Given the description of an element on the screen output the (x, y) to click on. 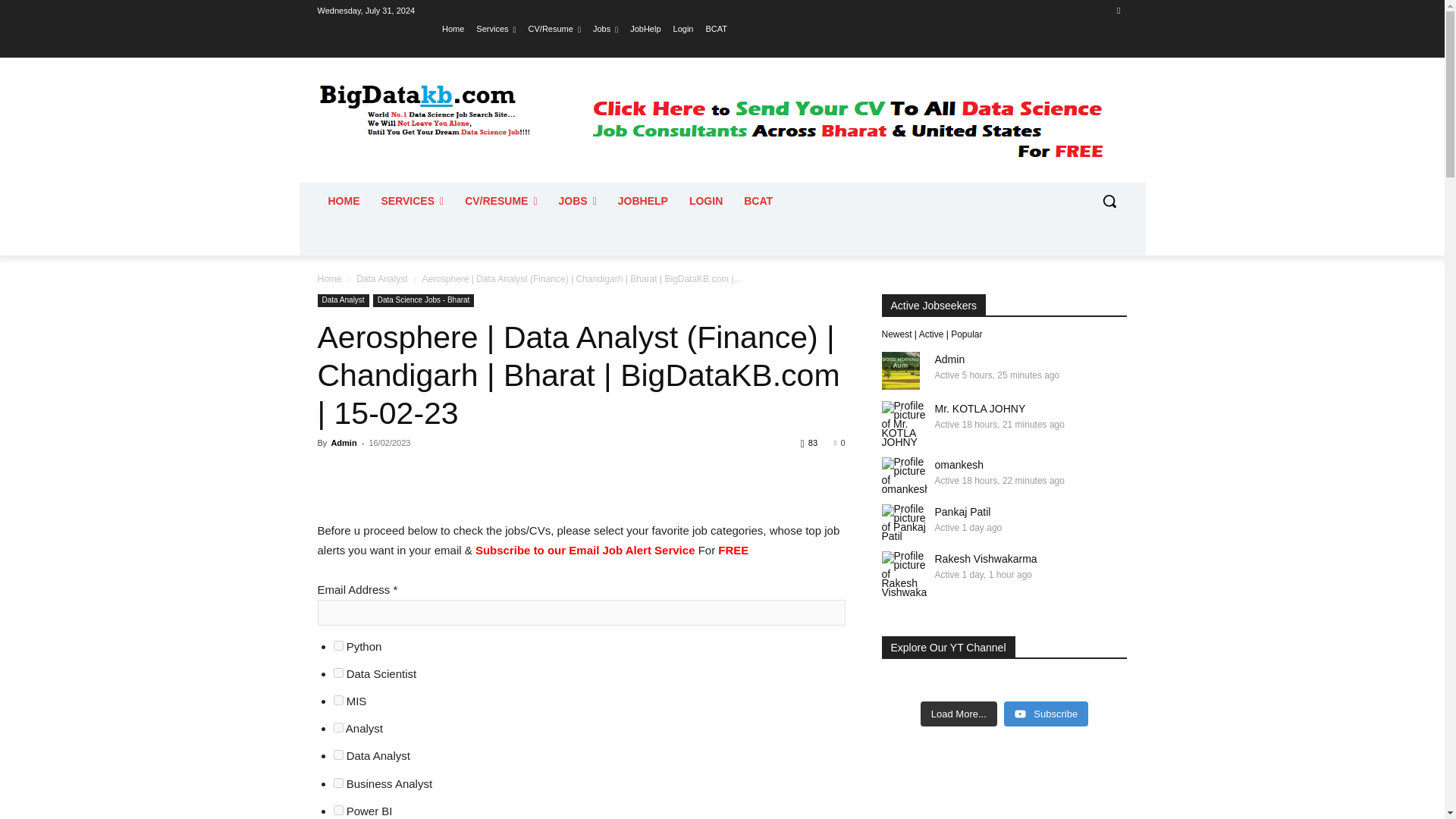
View all posts in Data Analyst (381, 278)
4 (338, 673)
16 (338, 755)
64 (338, 809)
Youtube (1117, 9)
JobHelp (645, 28)
Home (453, 28)
2 (338, 700)
1 (338, 645)
8 (338, 727)
Jobs (604, 28)
32 (338, 782)
Services (495, 28)
